Given the description of an element on the screen output the (x, y) to click on. 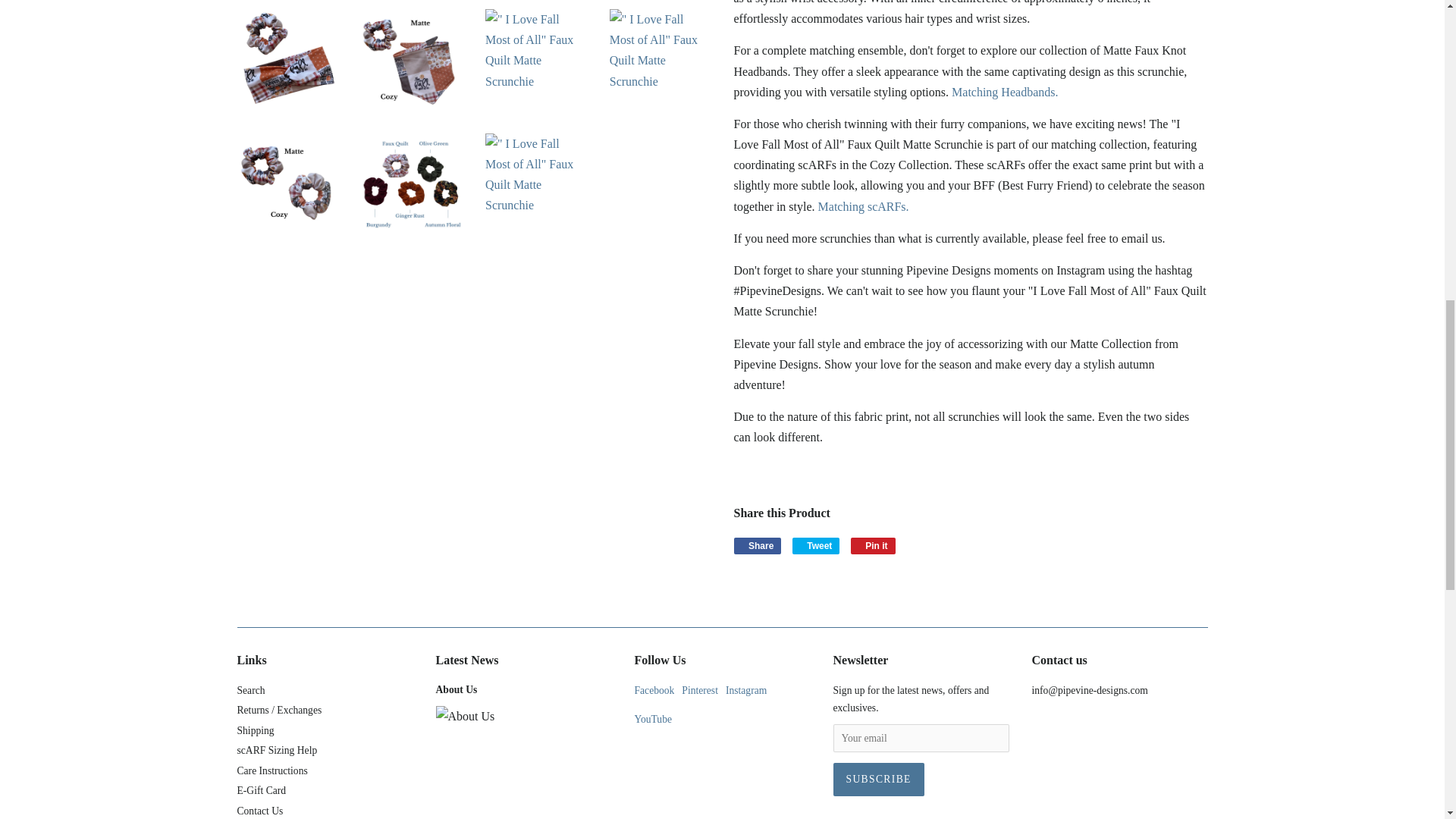
Pipevine Designs on Facebook (653, 690)
Pipevine Designs on Pinterest (699, 690)
Matching I love fall most of all faux quilt cozy scARF (863, 205)
Subscribe (877, 779)
Matching Headbands. (1005, 91)
Matching scARFs. (863, 205)
Pin on Pinterest (872, 545)
Pipevine Designs on YouTube (652, 718)
Pipevine Designs on Instagram (746, 690)
